Given the description of an element on the screen output the (x, y) to click on. 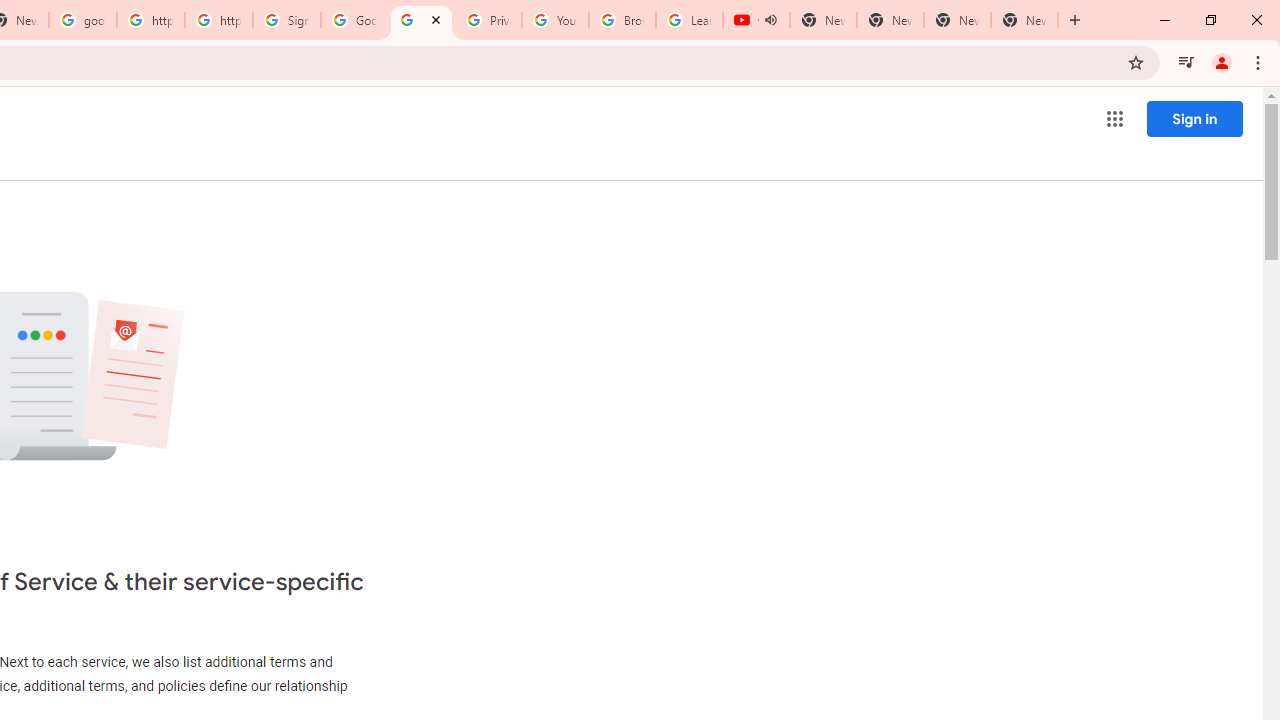
https://scholar.google.com/ (219, 20)
Sign in - Google Accounts (287, 20)
New Tab (1024, 20)
